Given the description of an element on the screen output the (x, y) to click on. 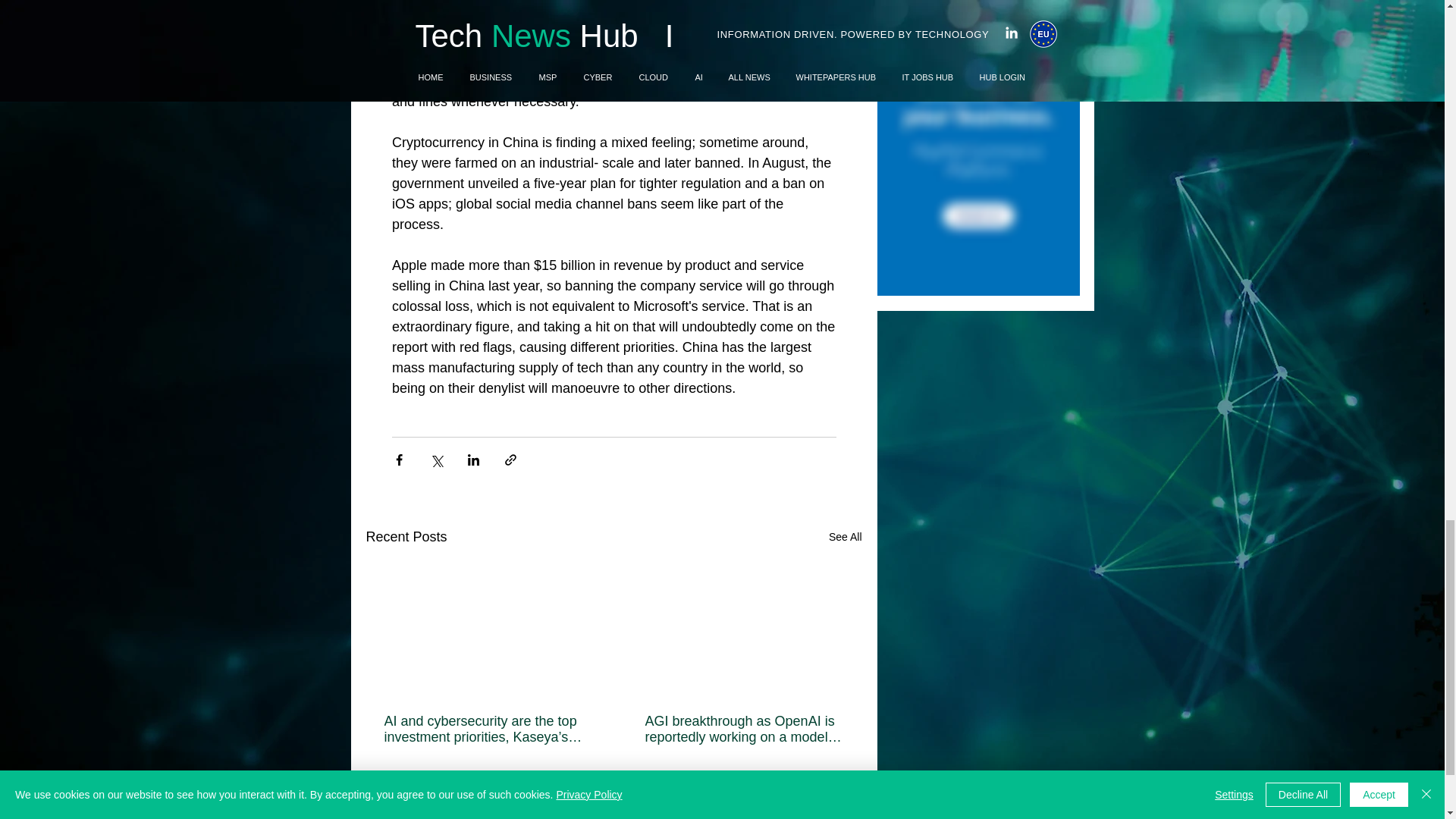
See All (844, 536)
